Given the description of an element on the screen output the (x, y) to click on. 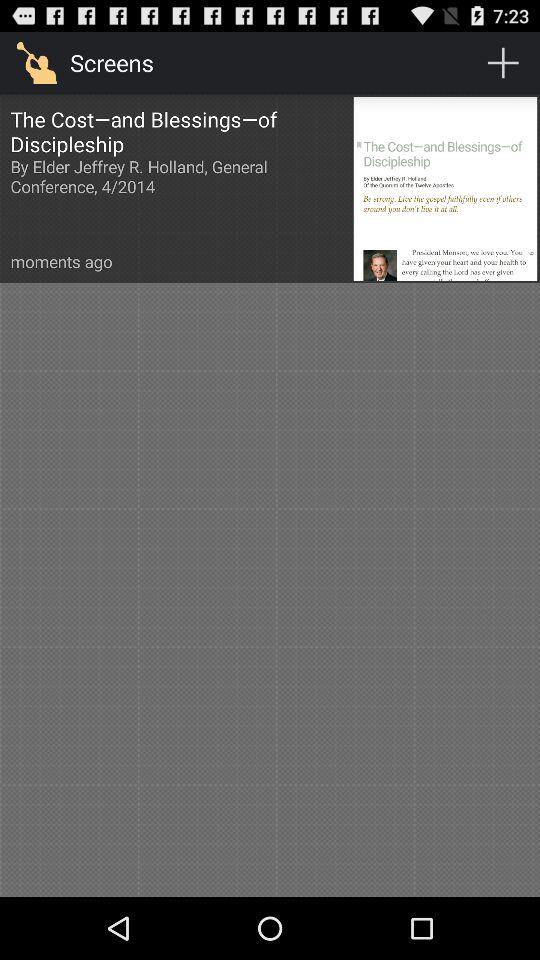
jump until moments ago item (61, 261)
